Given the description of an element on the screen output the (x, y) to click on. 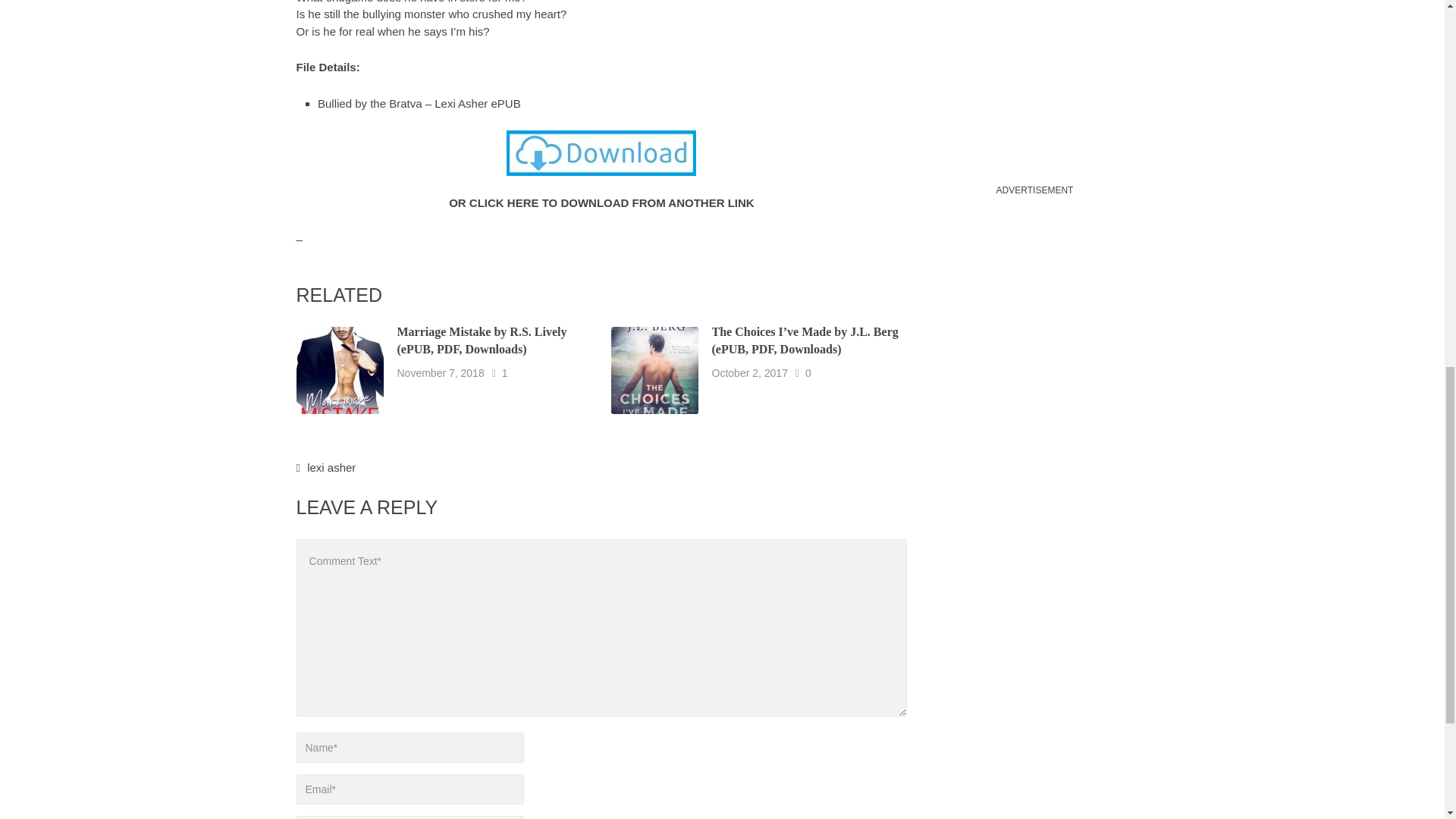
lexi asher (331, 467)
OR CLICK HERE TO DOWNLOAD FROM ANOTHER LINK (601, 202)
